Given the description of an element on the screen output the (x, y) to click on. 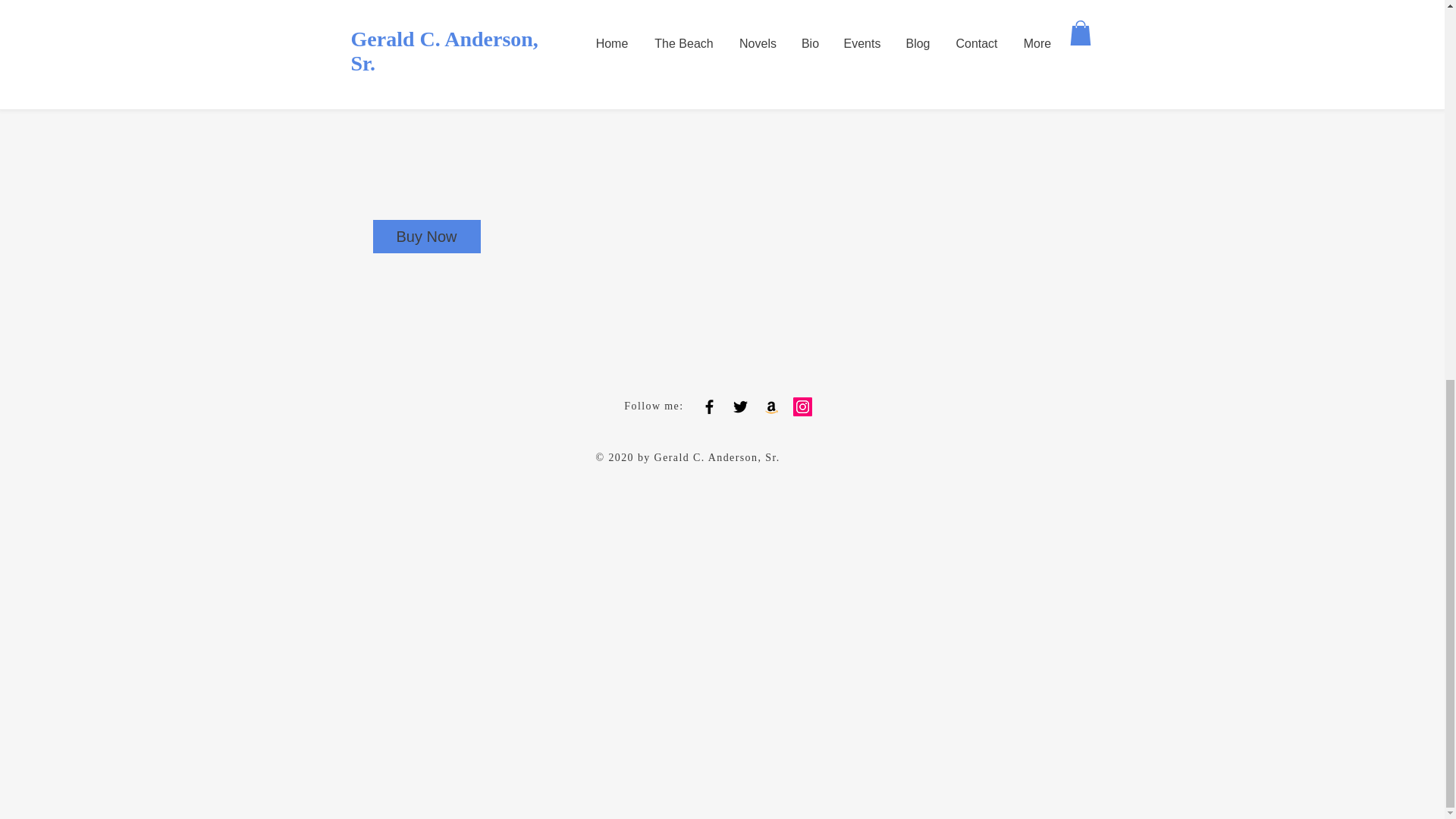
Buy Now (426, 236)
www.fisherhouse.org (763, 17)
